Given the description of an element on the screen output the (x, y) to click on. 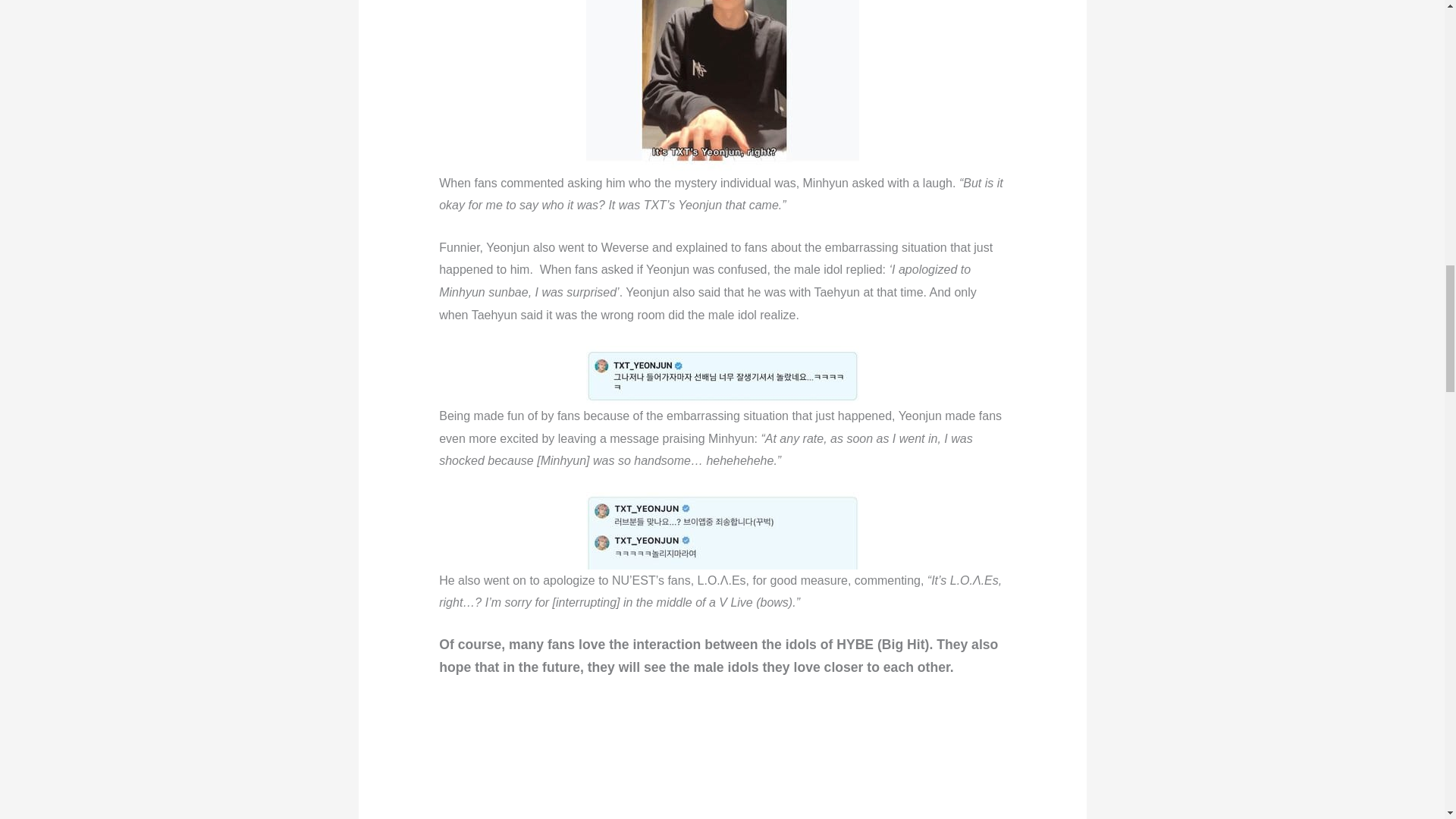
1C5F0CFB B185 42B7 B22E E5EEF52CE5CA (722, 530)
EEB03317 5B19 48B7 88D6 0F0DA41F969B (722, 374)
8B809A6F F961 430A 89B7 422533DFBE38 (722, 85)
